Given the description of an element on the screen output the (x, y) to click on. 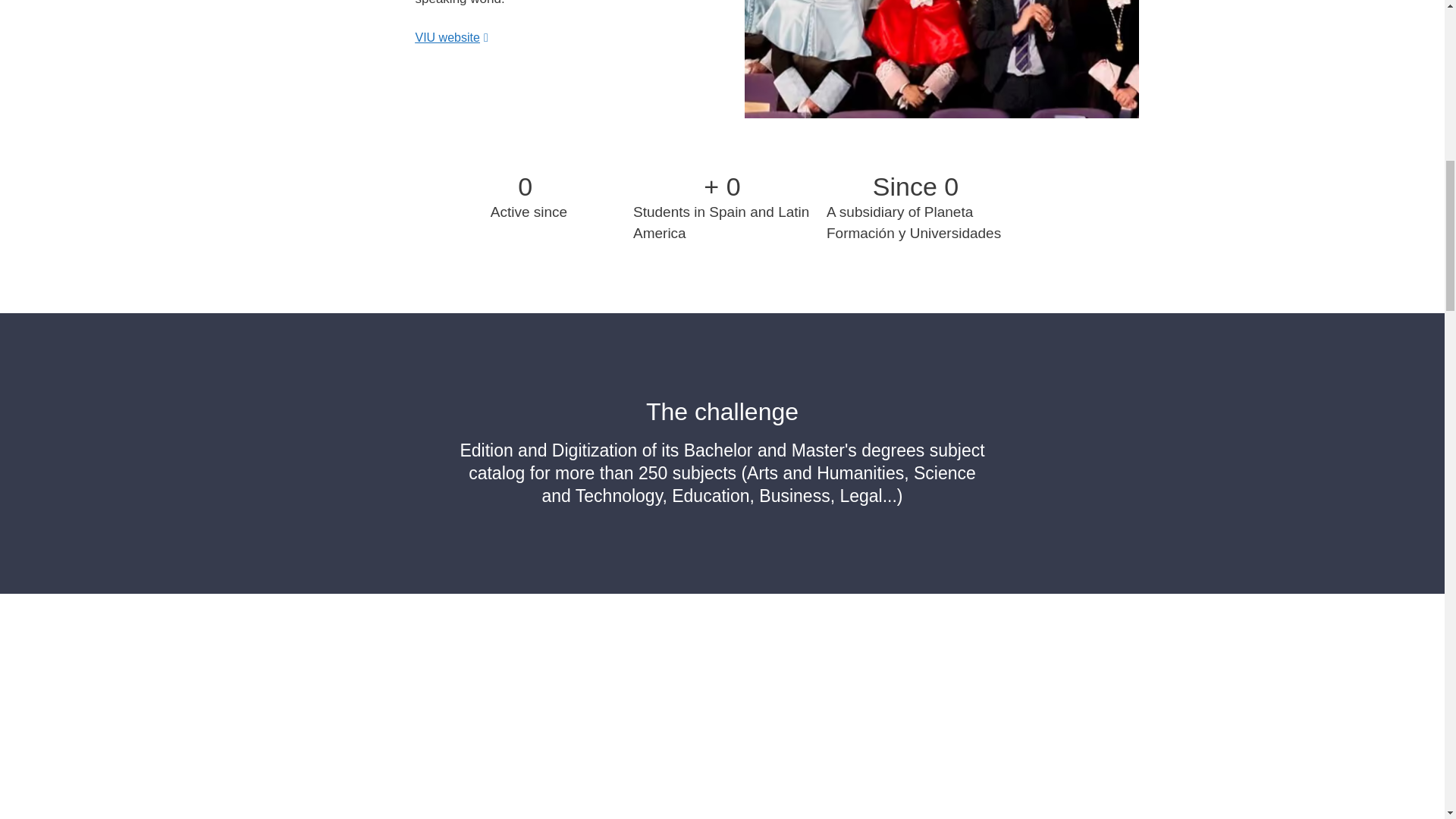
VIU website (450, 37)
